Given the description of an element on the screen output the (x, y) to click on. 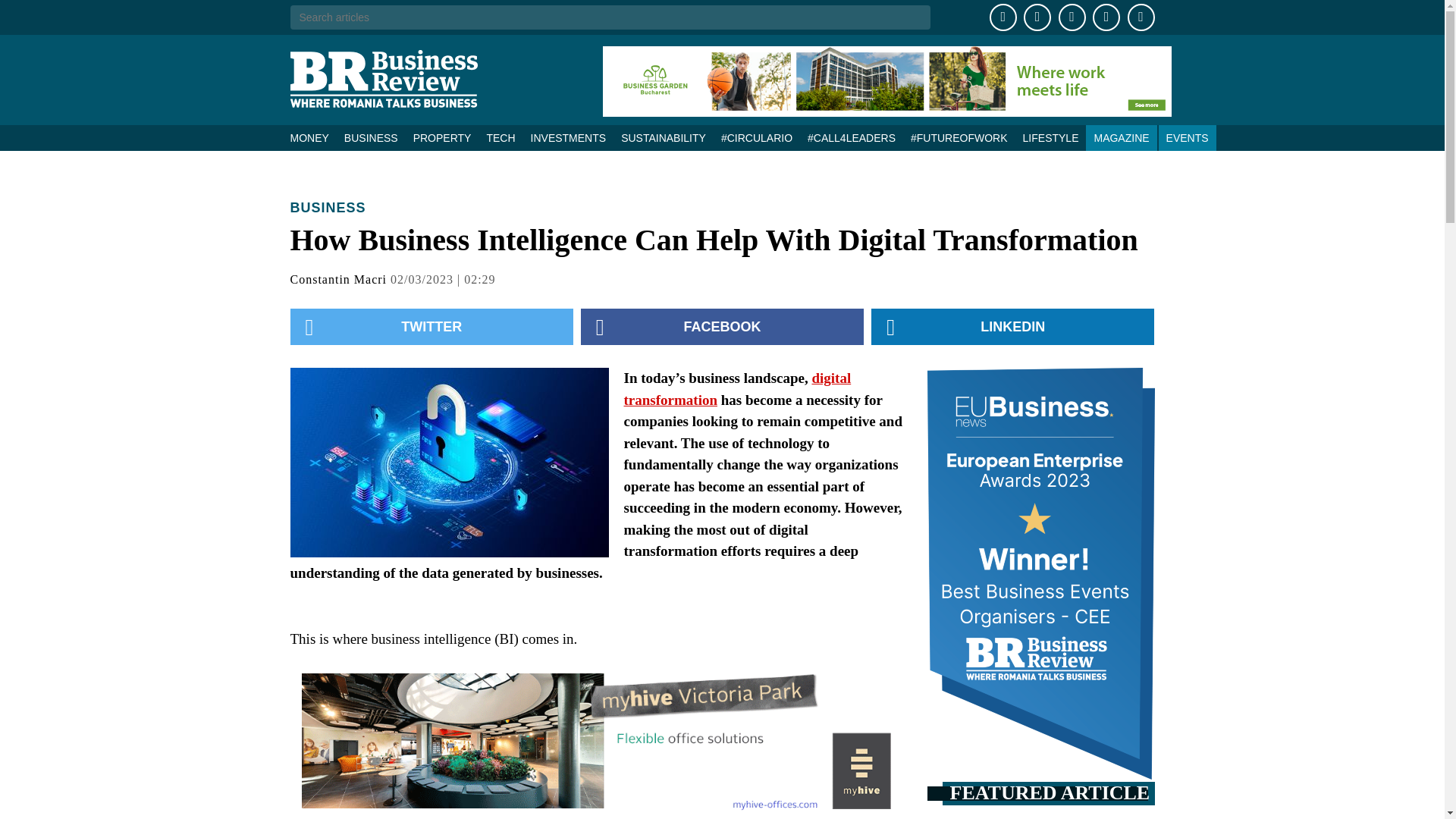
LINKEDIN (1012, 326)
BUSINESS (327, 207)
SUSTAINABILITY (662, 137)
PROPERTY (442, 137)
MONEY (312, 137)
BUSINESS (371, 137)
LIFESTYLE (1050, 137)
EVENTS (1186, 137)
FACEBOOK (721, 326)
digital transformation (736, 388)
TWITTER (430, 326)
INVESTMENTS (568, 137)
MAGAZINE (1121, 137)
TECH (500, 137)
Constantin Macri (338, 278)
